Given the description of an element on the screen output the (x, y) to click on. 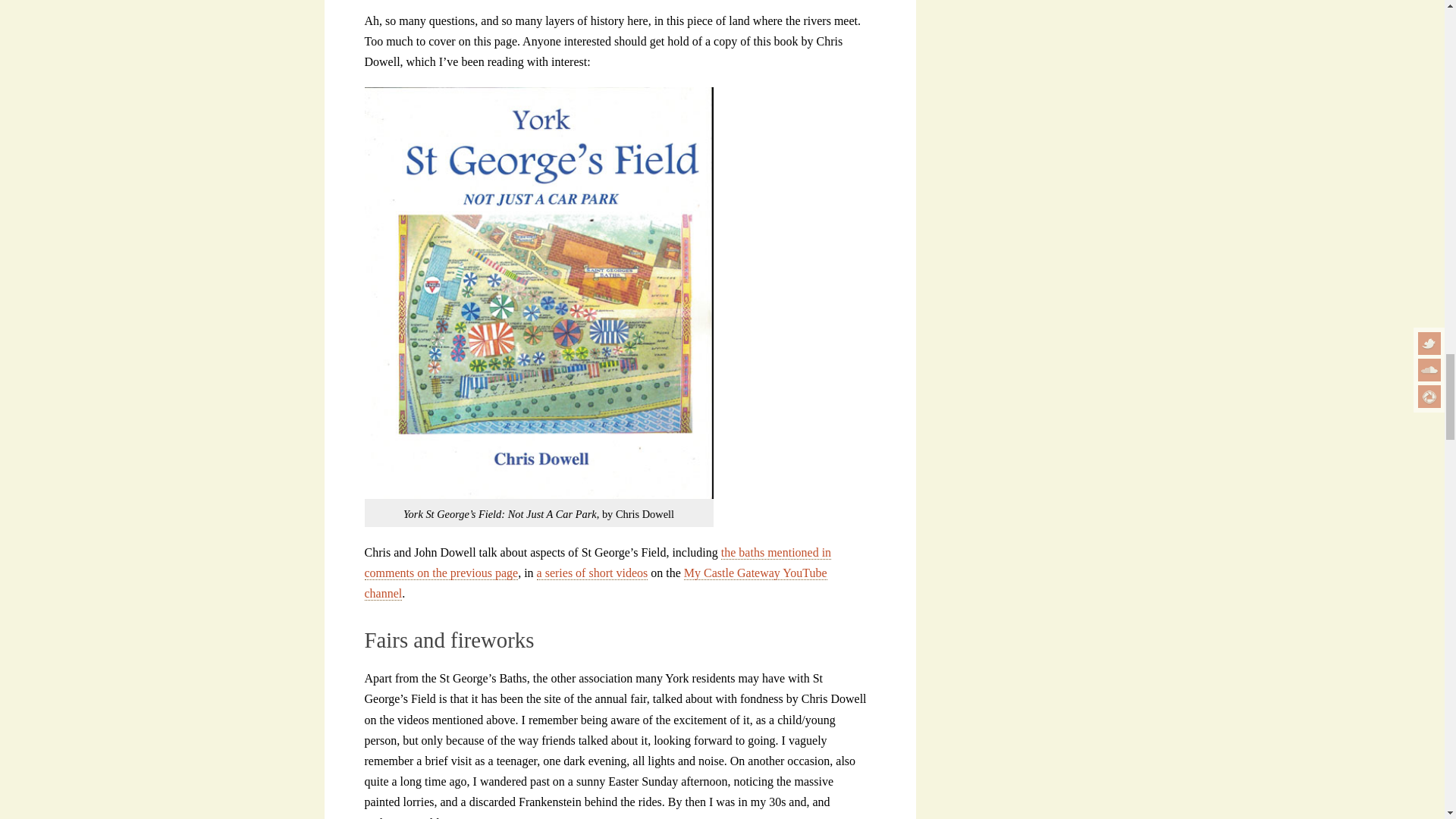
a series of short videos (592, 572)
My Castle Gateway YouTube channel (595, 583)
the baths mentioned in comments on the previous page (597, 562)
